Given the description of an element on the screen output the (x, y) to click on. 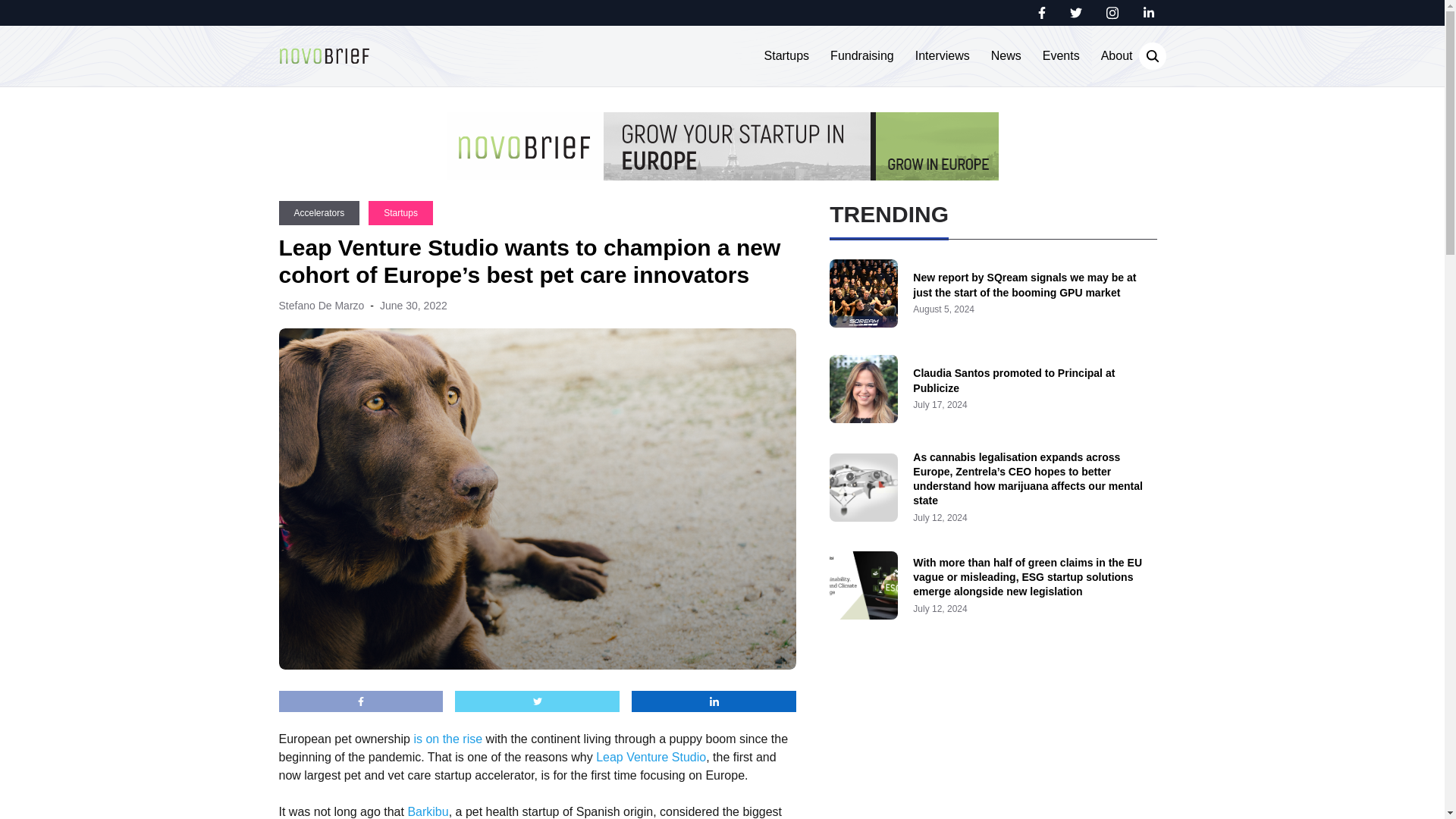
Startups (786, 55)
News (1006, 55)
Stefano De Marzo (322, 305)
Accelerators (319, 212)
Leap Venture Studio (650, 757)
Fundraising (861, 55)
Startups (400, 212)
is on the rise (447, 738)
About (1116, 55)
Interviews (942, 55)
